Given the description of an element on the screen output the (x, y) to click on. 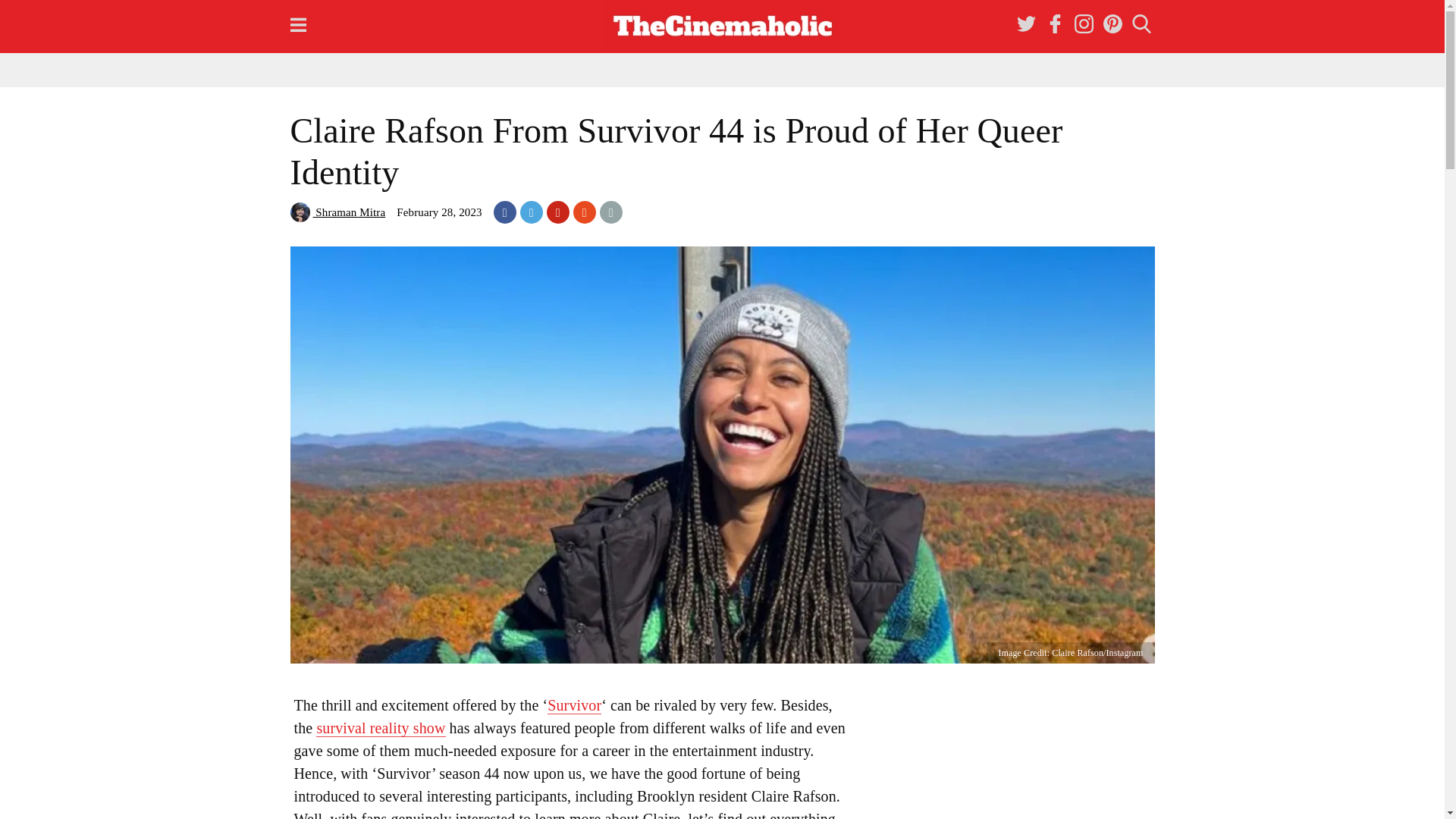
Survivor (574, 705)
Shraman Mitra (337, 212)
survival reality show (380, 728)
